Given the description of an element on the screen output the (x, y) to click on. 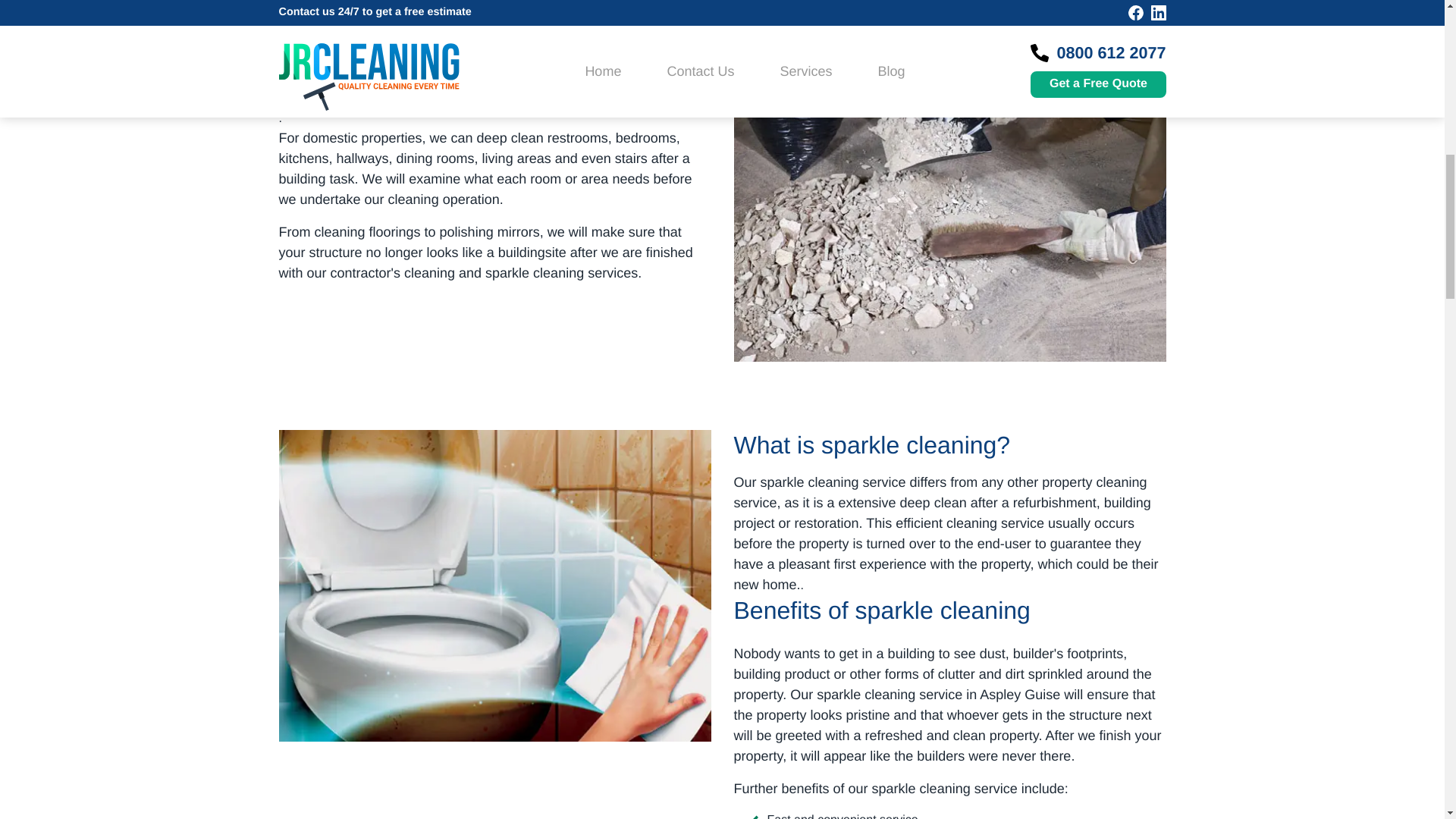
House cleaning (495, 785)
Builders at work (949, 19)
